Given the description of an element on the screen output the (x, y) to click on. 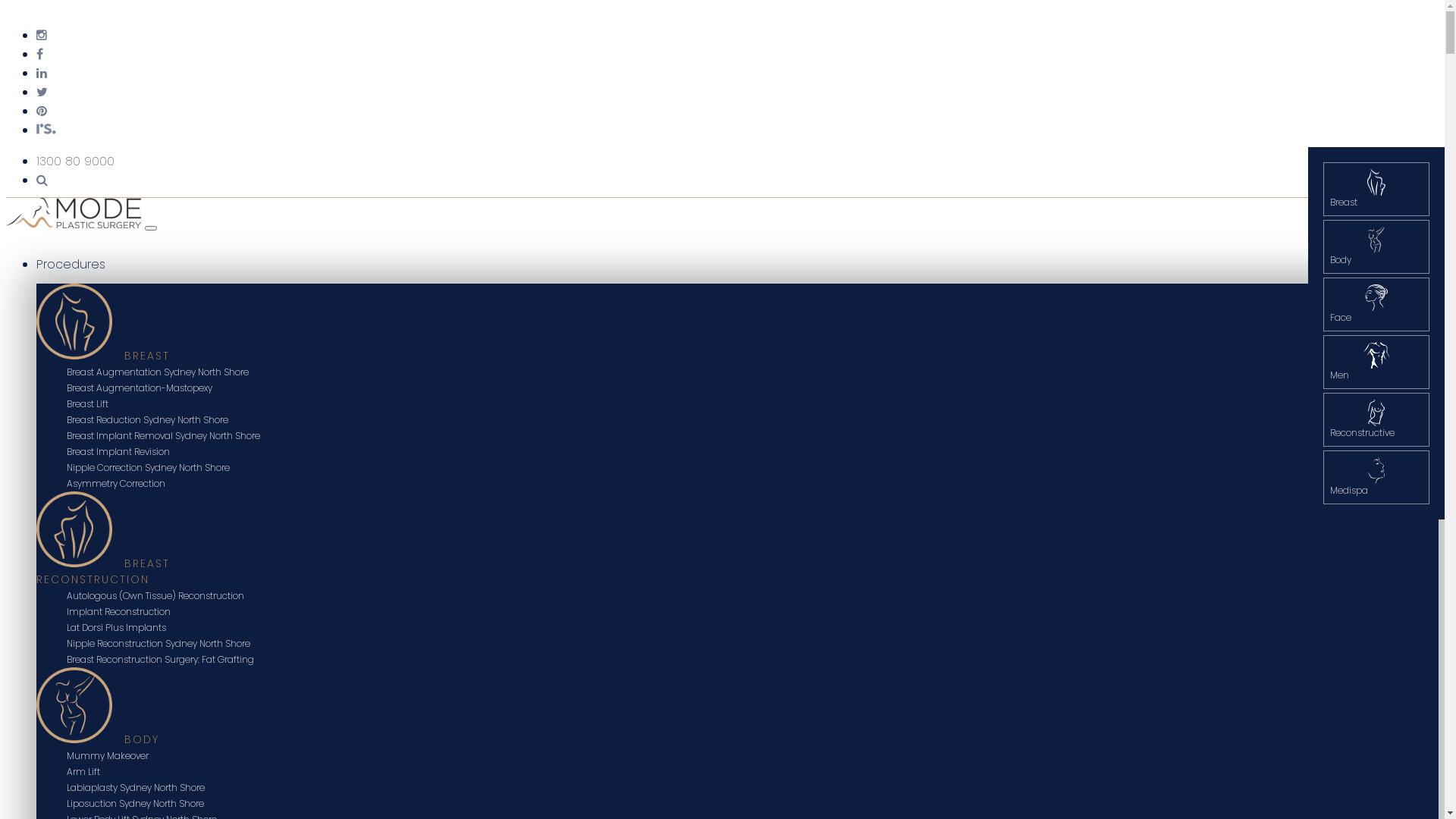
1300 80 9000 Element type: text (75, 160)
Liposuction Sydney North Shore Element type: text (134, 803)
Mummy Makeover Element type: text (107, 755)
Men Element type: text (1376, 362)
BODY Element type: text (141, 739)
BREAST Element type: text (146, 355)
Pinterest Element type: hover (41, 110)
Arm Lift Element type: text (83, 771)
Breast Reduction Sydney North Shore Element type: text (147, 419)
Twitter Element type: hover (41, 91)
Asymmetry Correction Element type: text (115, 482)
Breast Element type: text (1376, 189)
Labiaplasty Sydney North Shore Element type: text (135, 787)
Lat Dorsi Plus Implants Element type: text (116, 627)
Linkedin Element type: hover (41, 72)
Medispa Element type: text (1376, 477)
Nipple Correction Sydney North Shore Element type: text (147, 467)
BREAST
RECONSTRUCTION Element type: text (102, 571)
Nipple Reconstruction Sydney North Shore Element type: text (158, 643)
Autologous (Own Tissue) Reconstruction Element type: text (155, 595)
RealSelf Element type: hover (46, 129)
Procedures Element type: text (70, 264)
Face Element type: text (1376, 304)
Breast Implant Revision Element type: text (117, 451)
Breast Implant Removal Sydney North Shore Element type: text (163, 435)
Body Element type: text (1376, 246)
Instagram Element type: hover (41, 34)
Reconstructive Element type: text (1376, 419)
Breast Augmentation-Mastopexy Element type: text (139, 387)
Breast Lift Element type: text (87, 403)
Breast Reconstruction Surgery: Fat Grafting Element type: text (160, 658)
Facebook Element type: hover (39, 53)
Implant Reconstruction Element type: text (118, 611)
Breast Augmentation Sydney North Shore Element type: text (157, 371)
